Given the description of an element on the screen output the (x, y) to click on. 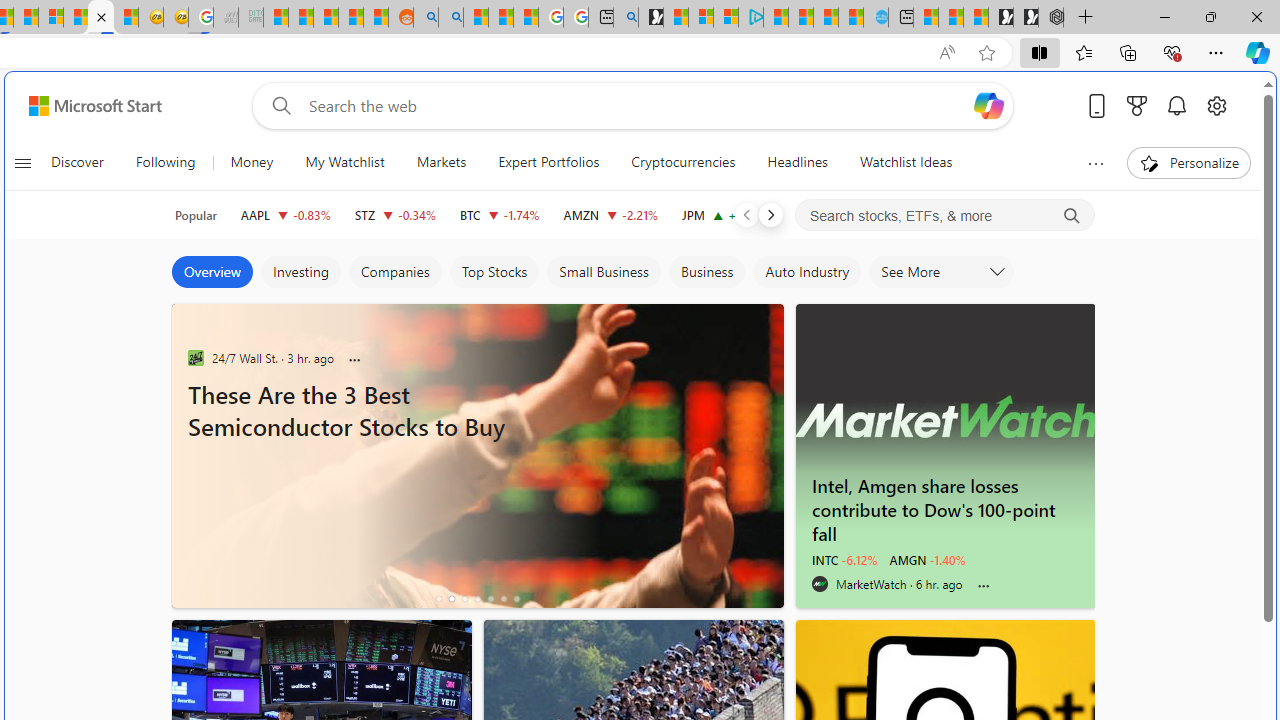
AMZN AMAZON.COM, INC. decrease 176.13 -3.98 -2.21% (610, 214)
See More (942, 272)
Next (771, 214)
Markets (440, 162)
INTC -6.12% (844, 560)
